Given the description of an element on the screen output the (x, y) to click on. 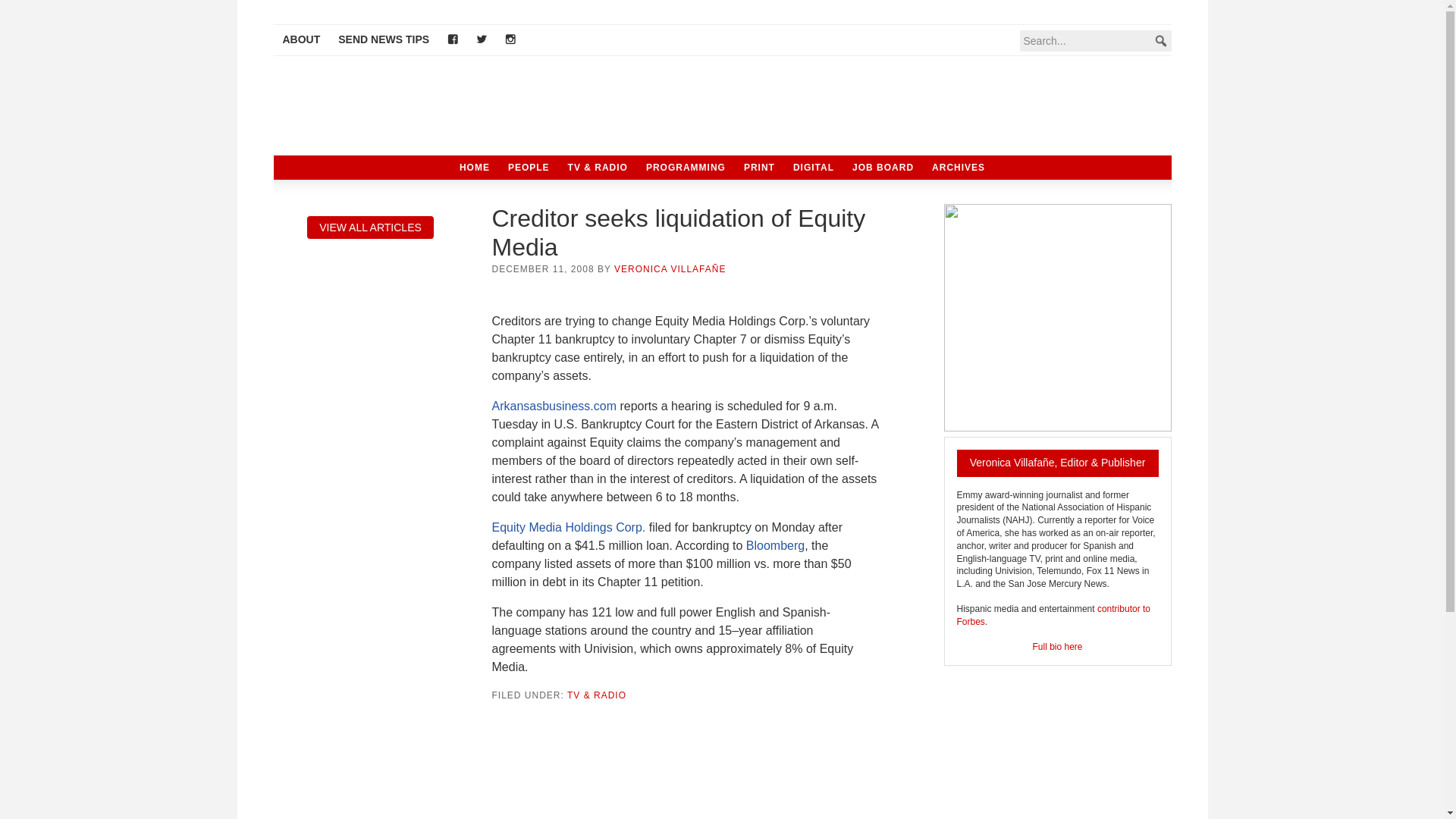
contributor to Forbes (1053, 615)
VIEW ALL ARTICLES (370, 227)
ARCHIVES (958, 167)
Equity Media Holdings Corp. (568, 526)
DIGITAL (813, 167)
Media Moves (424, 108)
HOME (474, 167)
ABOUT (301, 40)
Bloomberg (775, 545)
PROGRAMMING (686, 167)
